Given the description of an element on the screen output the (x, y) to click on. 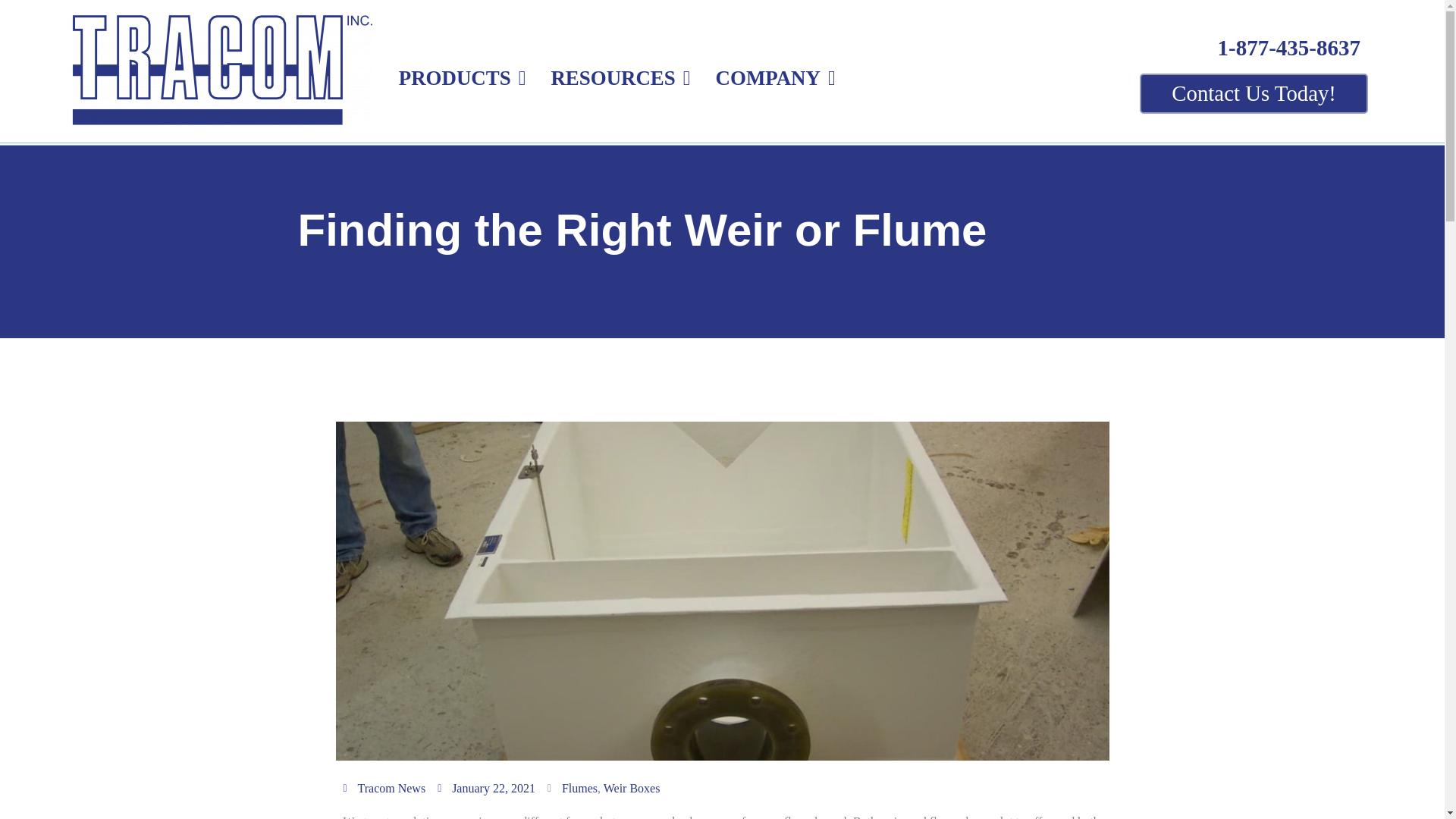
PRODUCTS (454, 78)
RESOURCES (612, 78)
